Given the description of an element on the screen output the (x, y) to click on. 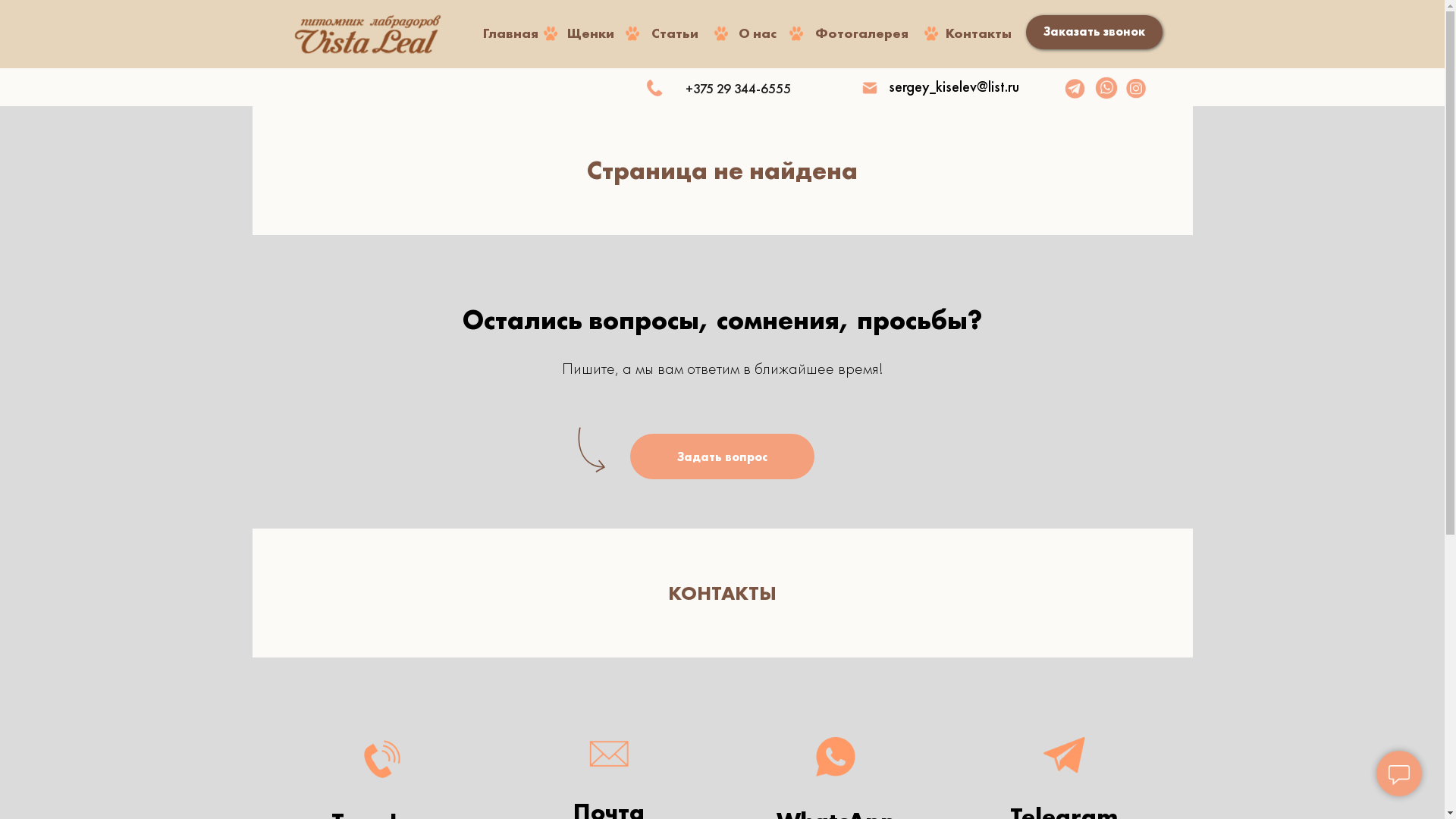
sergey_kiselev@list.ru Element type: text (953, 86)
+375 29 344-6555 Element type: text (737, 88)
